Given the description of an element on the screen output the (x, y) to click on. 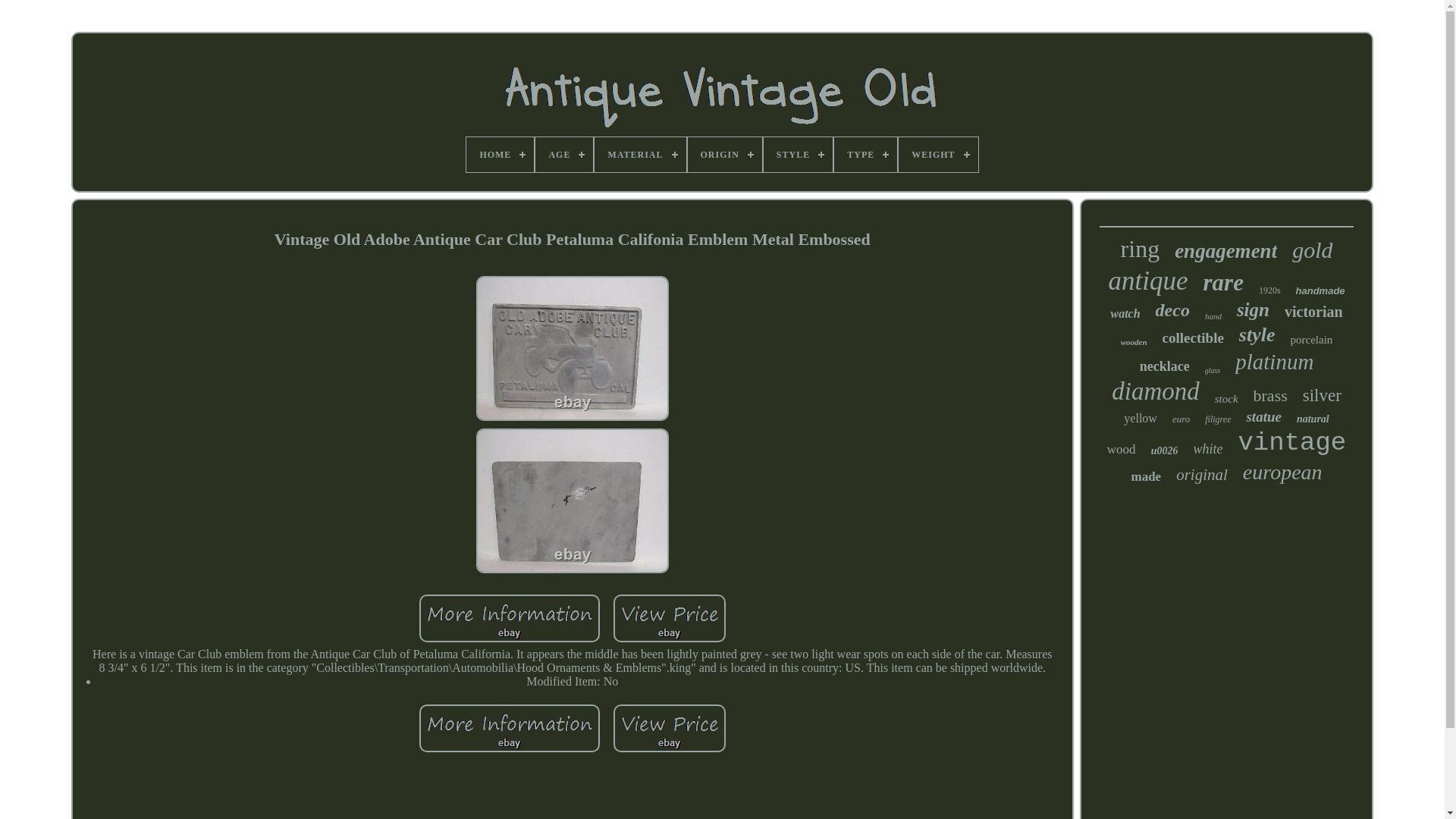
HOME (499, 154)
MATERIAL (639, 154)
AGE (563, 154)
